Given the description of an element on the screen output the (x, y) to click on. 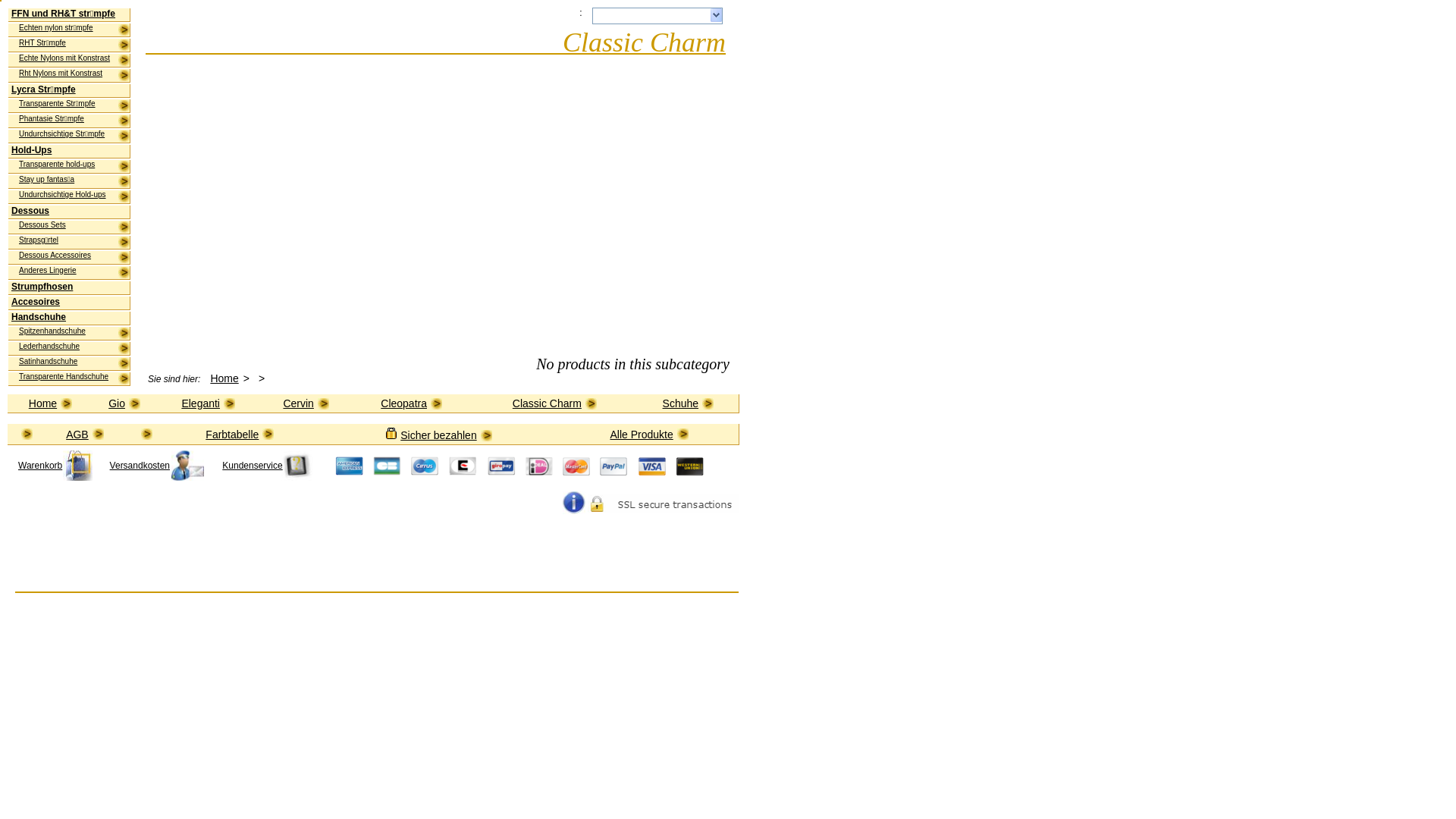
Undurchsichtige Hold-ups Element type: text (73, 196)
Eleganti Element type: text (208, 403)
Dessous Sets Element type: text (73, 226)
Gio Element type: text (124, 403)
Schuhe Element type: text (687, 403)
Cleopatra Element type: text (411, 403)
Strumpfhosen Element type: text (70, 287)
Farbtabelle Element type: text (239, 433)
Hold-Ups Element type: text (70, 150)
Transparente hold-ups Element type: text (73, 166)
Versandkosten Element type: text (156, 465)
Warenkorb Element type: text (55, 465)
Handschuhe Element type: text (70, 317)
Home Element type: text (224, 378)
Dessous Accessoires Element type: text (73, 257)
Lederhandschuhe Element type: text (73, 348)
Dessous Element type: text (70, 211)
Sicher bezahlen Element type: text (445, 435)
Transparente Handschuhe Element type: text (73, 378)
Echte Nylons mit Konstrast Element type: text (73, 59)
Anderes Lingerie Element type: text (73, 272)
Rht Nylons mit Konstrast Element type: text (73, 75)
Alle Produkte Element type: text (648, 433)
Classic Charm Element type: text (554, 403)
Spitzenhandschuhe Element type: text (73, 332)
Cervin Element type: text (305, 403)
Satinhandschuhe Element type: text (73, 363)
Kundenservice Element type: text (267, 465)
Accesoires Element type: text (70, 302)
Home Element type: text (50, 403)
AGB Element type: text (84, 433)
